Given the description of an element on the screen output the (x, y) to click on. 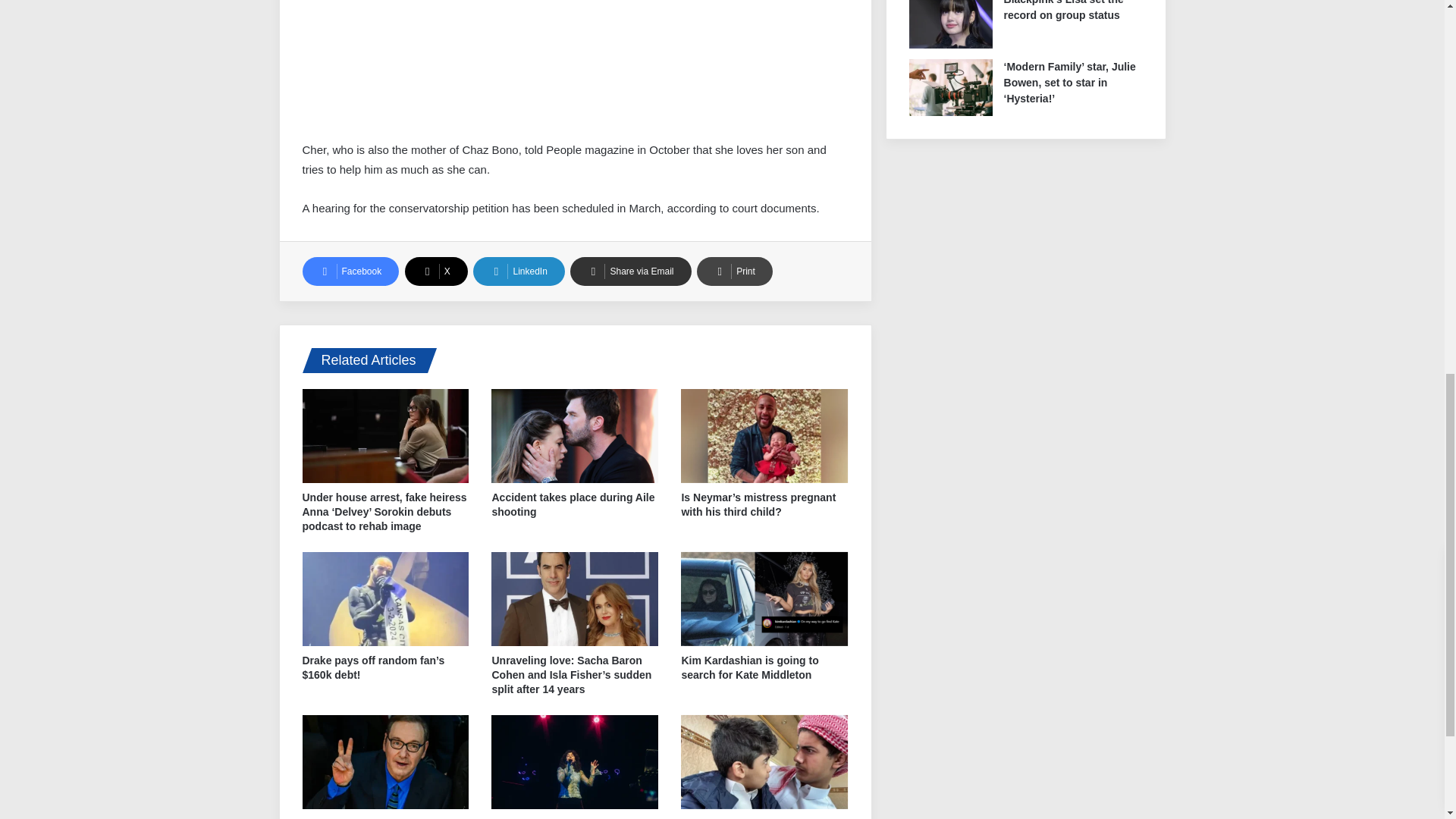
Accident takes place during Aile shooting (572, 504)
Share via Email (630, 271)
Facebook (349, 271)
Share via Email (630, 271)
X (435, 271)
Kim Kardashian is going to search for Kate Middleton (749, 667)
Print (735, 271)
X (435, 271)
X Post (415, 77)
Print (735, 271)
